Given the description of an element on the screen output the (x, y) to click on. 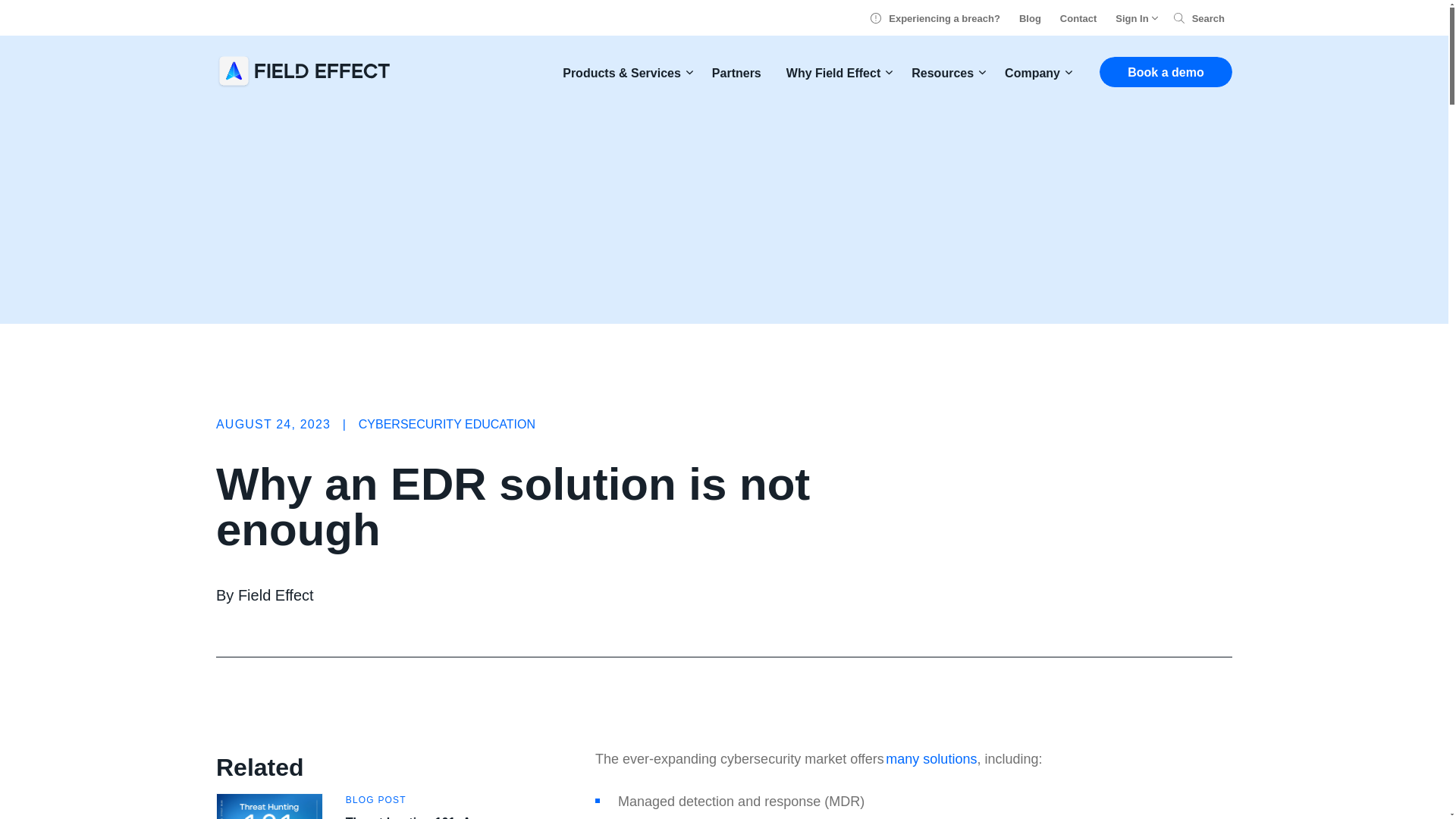
Contact (1077, 18)
Experiencing a breach? (935, 18)
Why Field Effect (836, 73)
Blog (1030, 18)
Search (1198, 18)
Resources (945, 73)
Sign In (1134, 18)
